Given the description of an element on the screen output the (x, y) to click on. 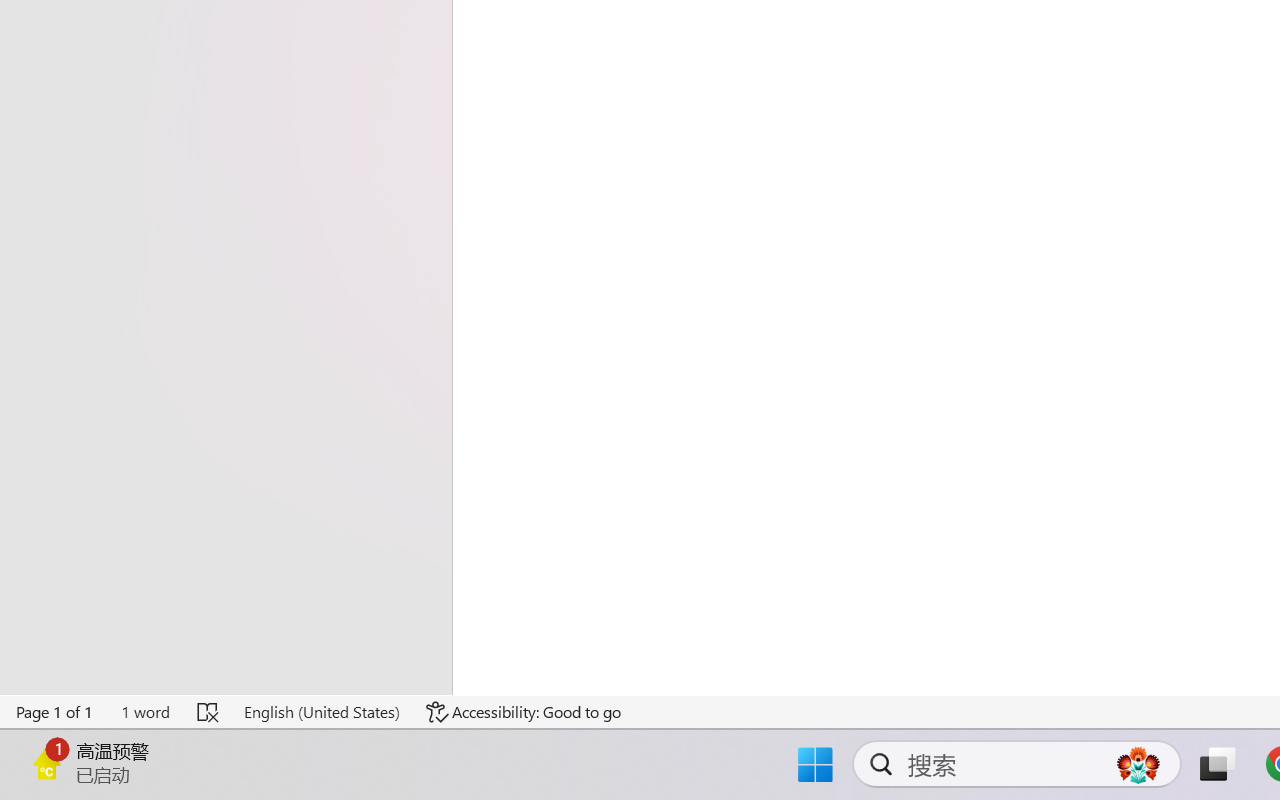
Spelling and Grammar Check Errors (208, 712)
